Given the description of an element on the screen output the (x, y) to click on. 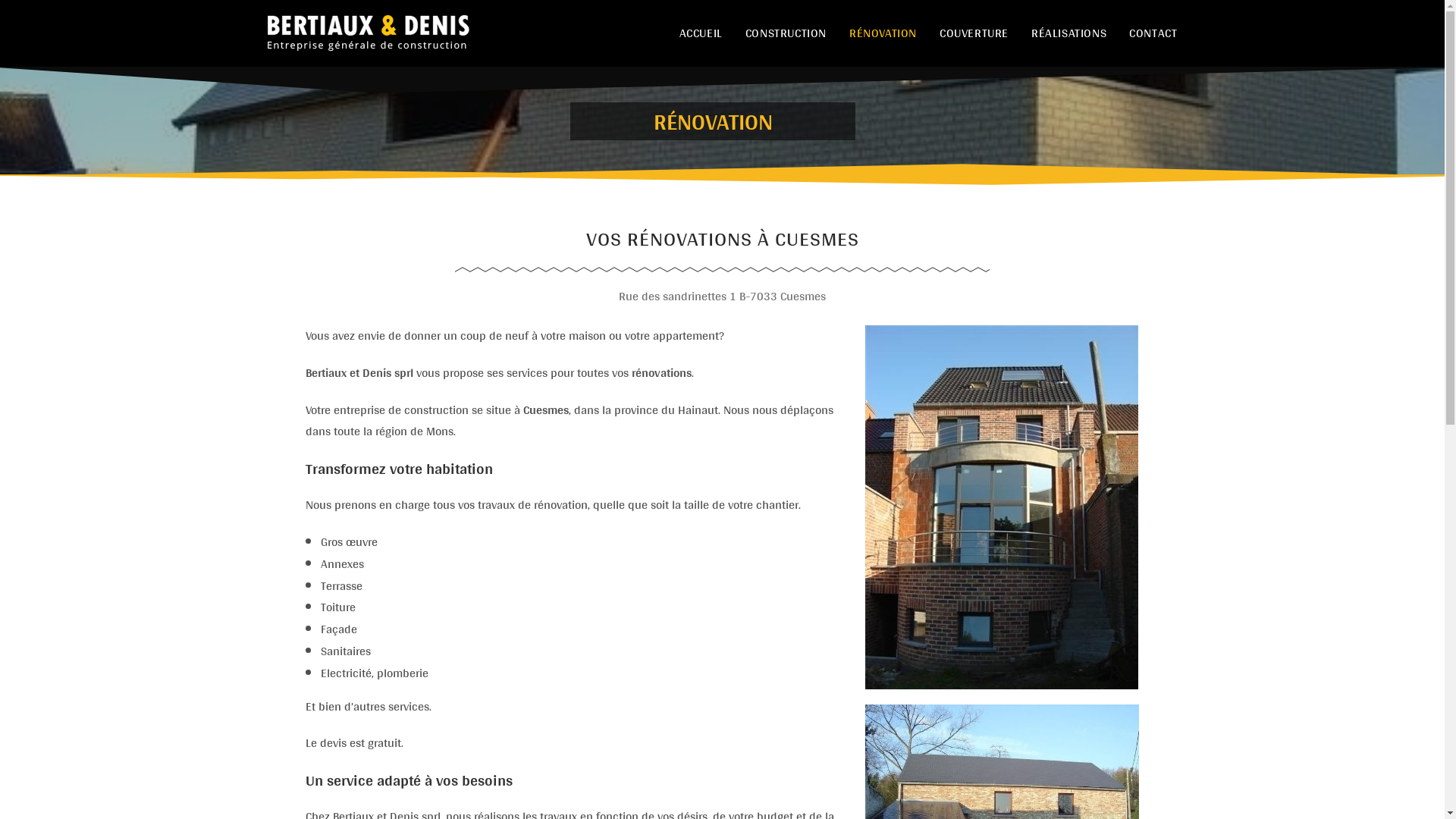
CONTACT Element type: text (1152, 32)
CONSTRUCTION Element type: text (785, 32)
ACCUEIL Element type: text (701, 32)
COUVERTURE Element type: text (973, 32)
